Given the description of an element on the screen output the (x, y) to click on. 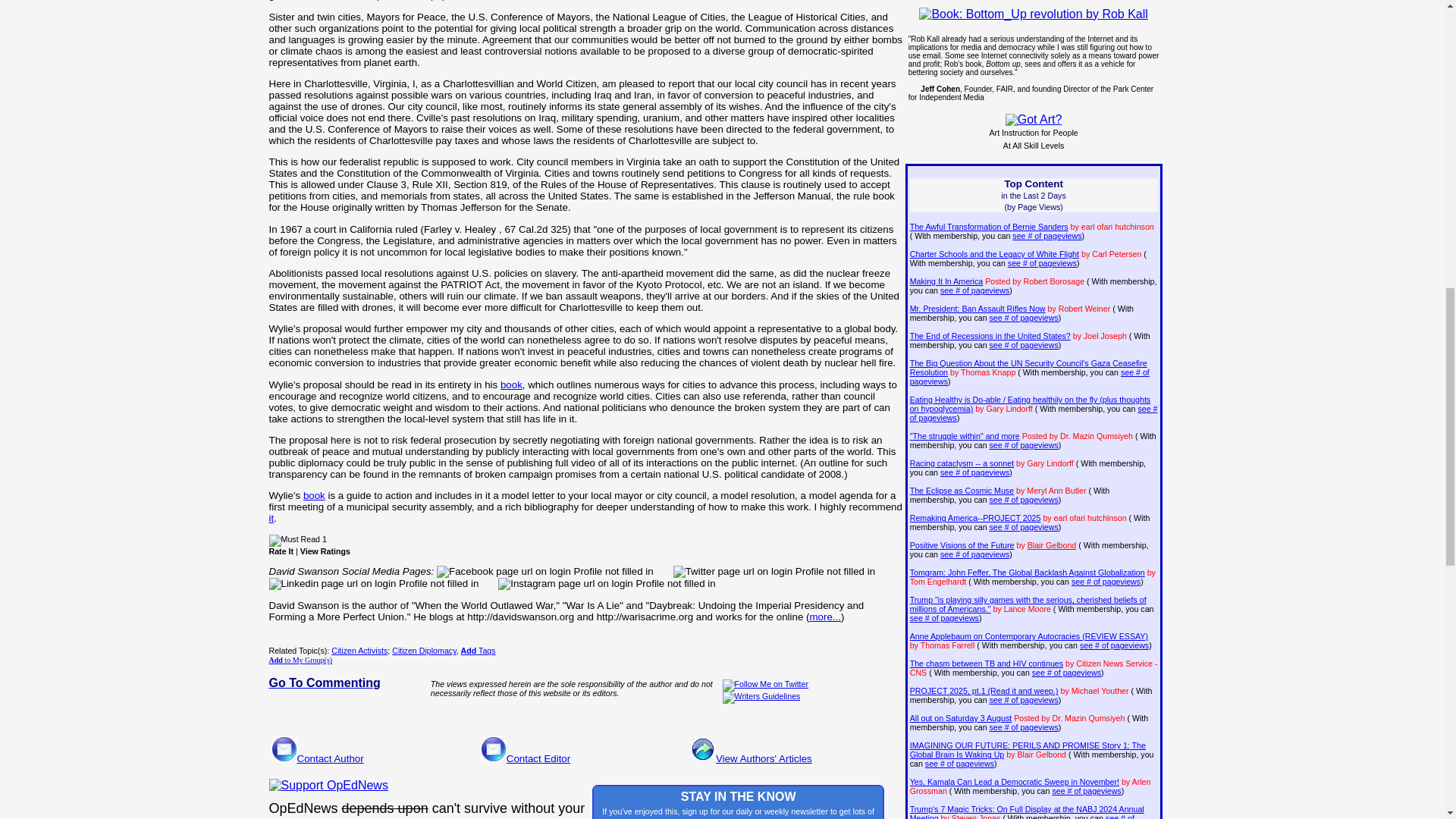
Support OpEdNews (327, 785)
Citizen Activists (359, 650)
Linkedin page url on login Profile not filled in (373, 583)
Add Tags (478, 650)
Instagram page url on login Profile not filled in (605, 583)
Rate It (280, 551)
Twitter page url on login Profile not filled in (773, 571)
Must Read (293, 540)
View Ratings (324, 551)
more... (824, 616)
Go To Commenting (323, 682)
book (511, 384)
Facebook page url on login Profile not filled in (544, 571)
Writers Guidelines (761, 697)
Citizen Diplomacy (424, 650)
